Given the description of an element on the screen output the (x, y) to click on. 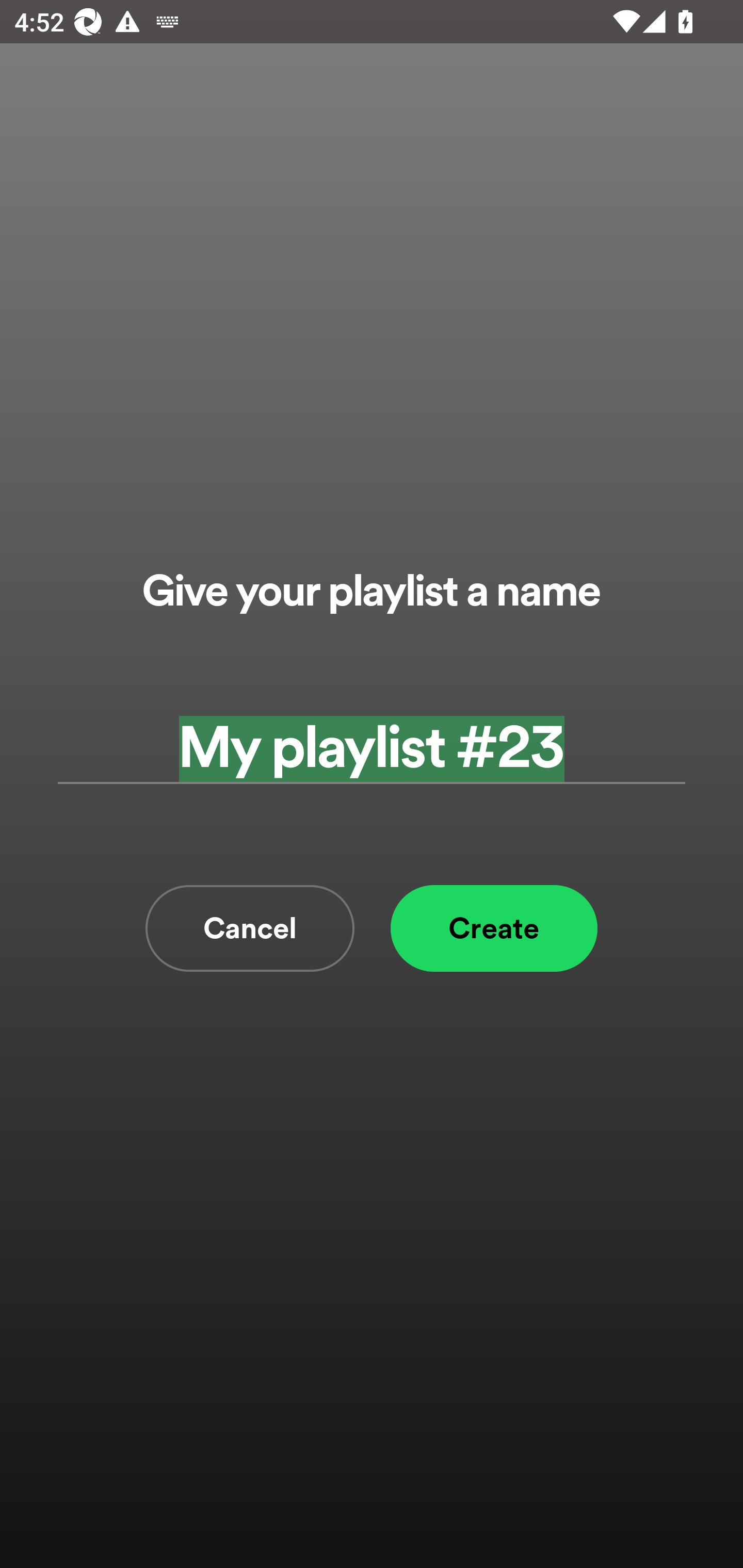
My playlist #23 Add a playlist name (371, 749)
Cancel (249, 928)
Create (493, 928)
